Given the description of an element on the screen output the (x, y) to click on. 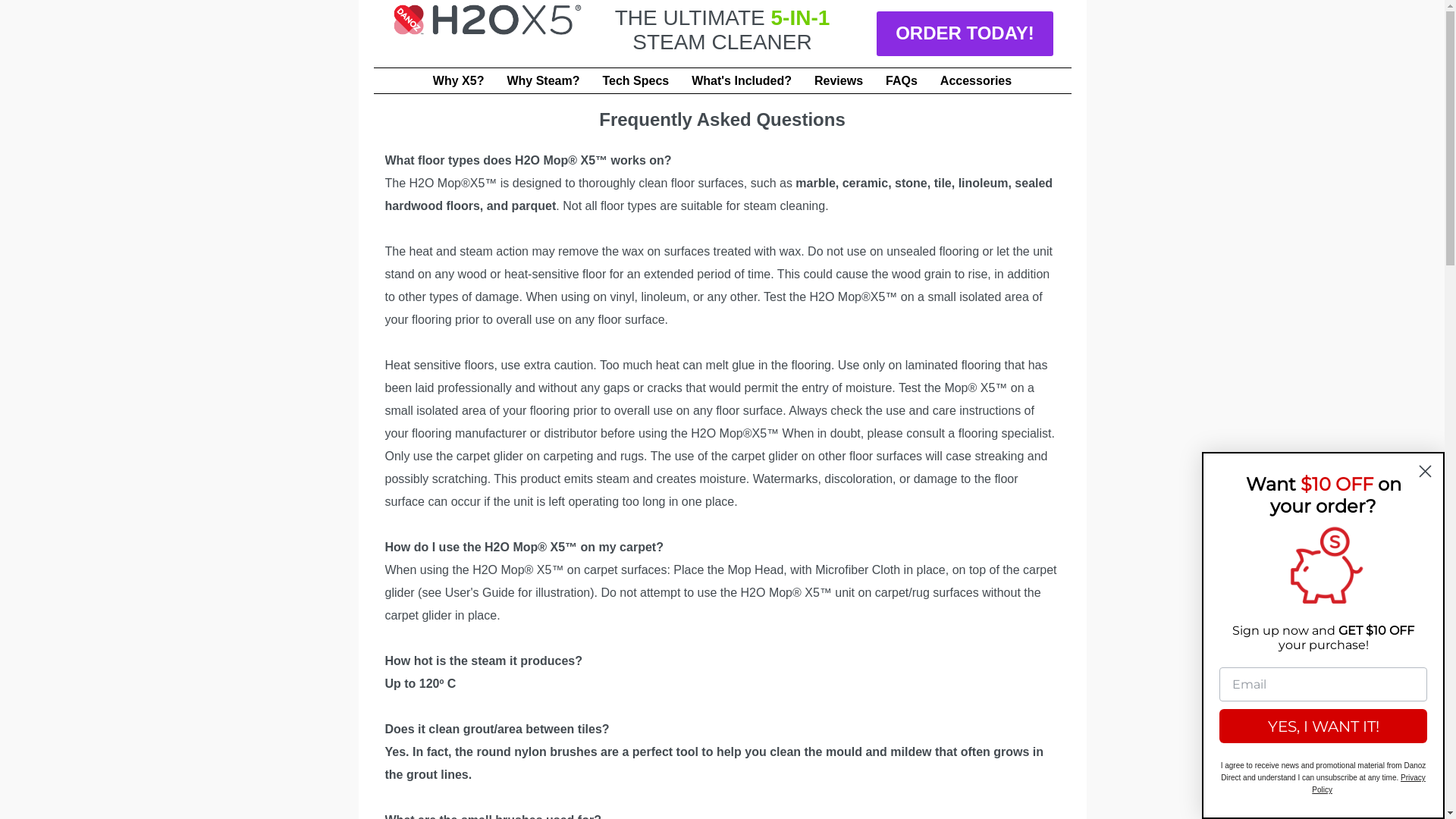
Reviews Element type: text (838, 80)
ORDER TODAY! Element type: text (964, 33)
Tech Specs Element type: text (635, 80)
Submit Element type: text (21, 7)
Why X5? Element type: text (458, 80)
What's Included? Element type: text (741, 80)
Accessories Element type: text (975, 80)
YES, I WANT IT! Element type: text (1323, 726)
FAQs Element type: text (901, 80)
Privacy Policy Element type: text (1368, 783)
Why Steam? Element type: text (542, 80)
Close dialog 1 Element type: text (1425, 471)
